Given the description of an element on the screen output the (x, y) to click on. 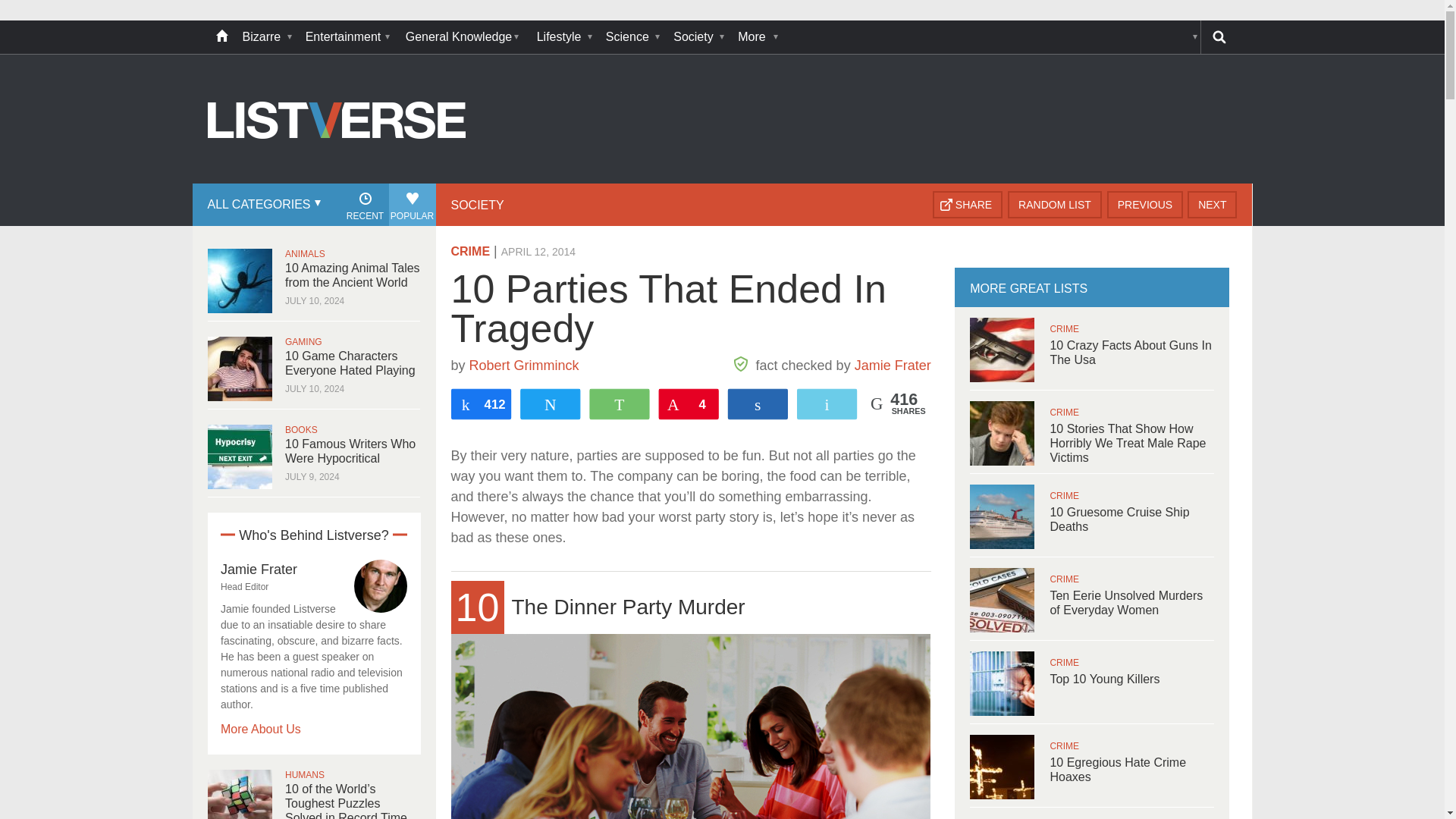
Popular (411, 204)
Go to Home (336, 181)
Recent (364, 204)
More (756, 37)
Bizarre (266, 37)
Lifestyle (563, 37)
Society (697, 37)
Share (968, 204)
General Knowledge (462, 37)
All Categories (262, 204)
Entertainment (347, 37)
Science (631, 37)
